Given the description of an element on the screen output the (x, y) to click on. 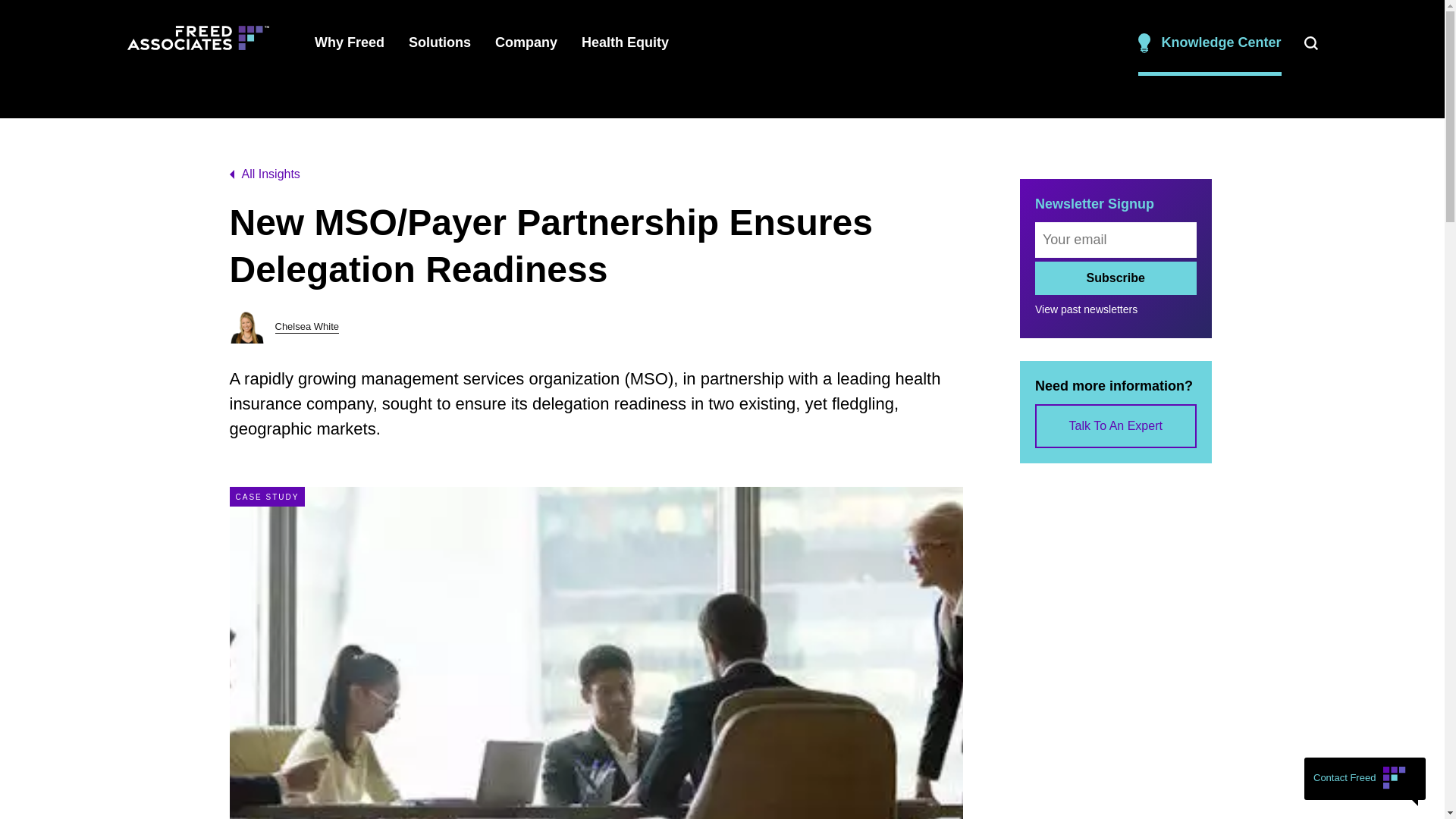
Company (526, 42)
Read our latest newsletter. (757, 19)
Solutions (439, 42)
Why Freed (349, 42)
Health Equity (624, 42)
Knowledge Center (1209, 42)
